Given the description of an element on the screen output the (x, y) to click on. 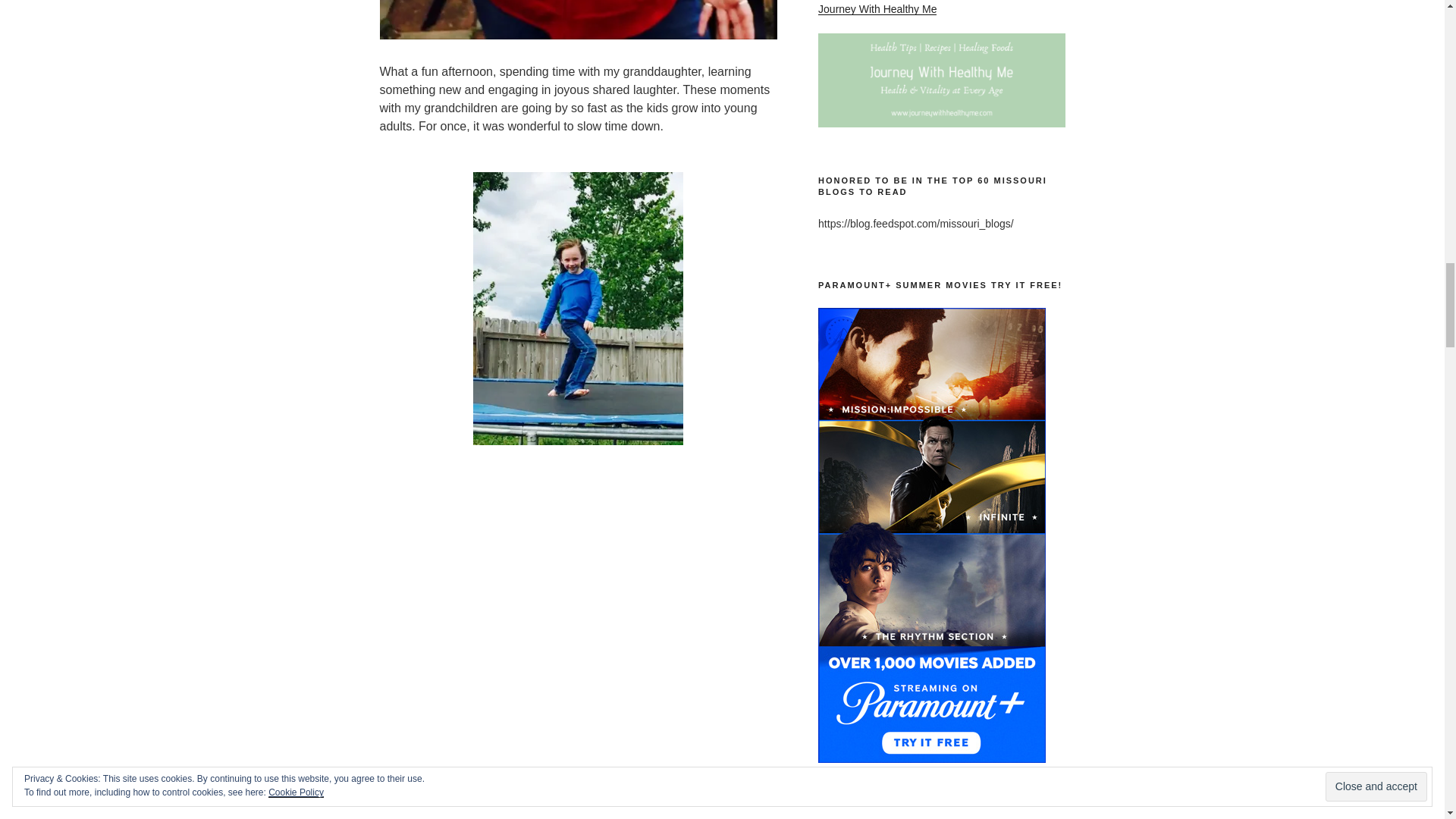
Journey With Healthy Me (877, 9)
